Given the description of an element on the screen output the (x, y) to click on. 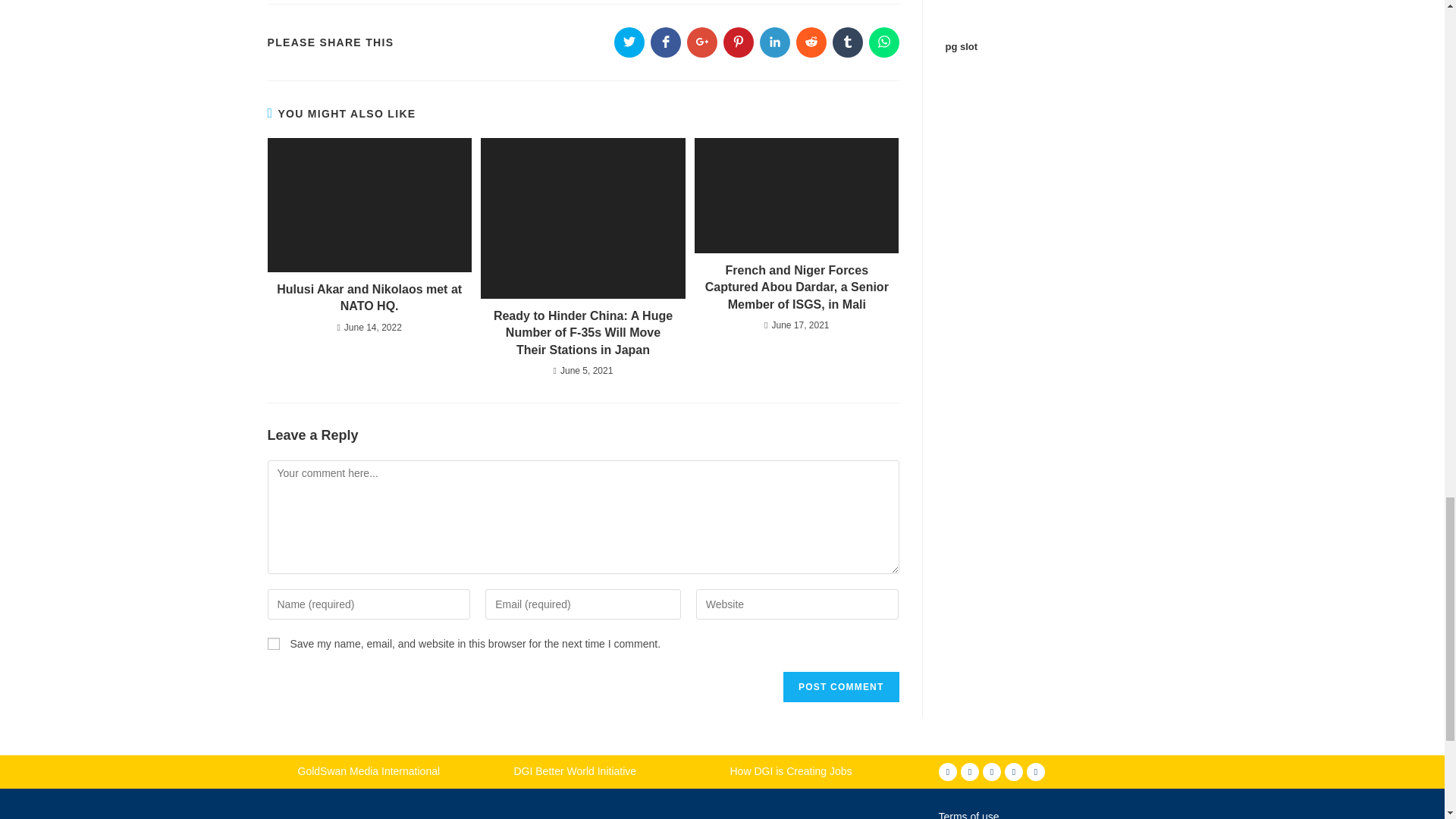
Post Comment (840, 686)
yes (272, 644)
